Given the description of an element on the screen output the (x, y) to click on. 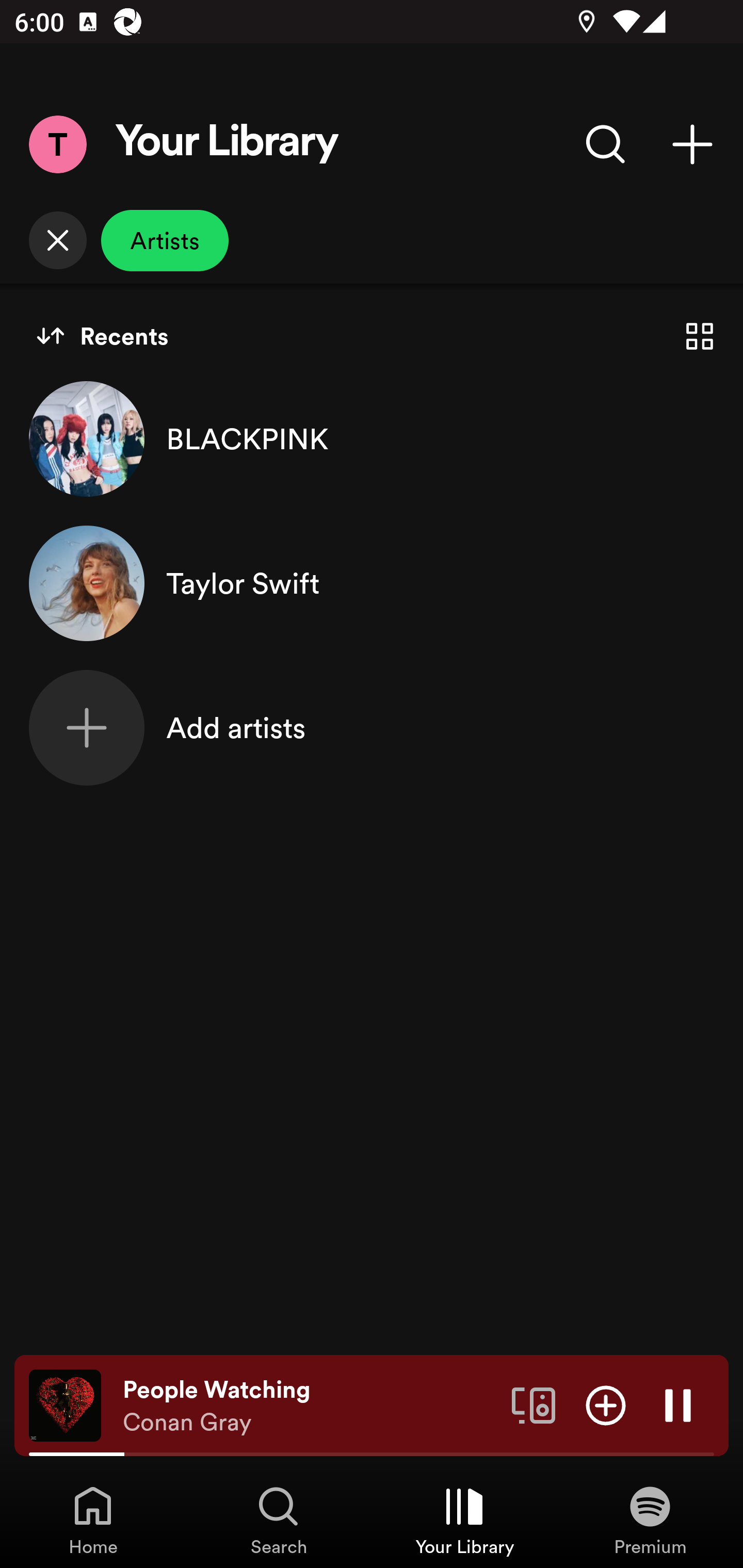
Menu (57, 144)
Search Your Library (605, 144)
Create playlist (692, 144)
Your Library Your Library Heading (226, 144)
Clear Filters (57, 240)
Artists, show only artists. (164, 240)
Recents (101, 336)
Show Grid view (699, 336)
BLACKPINK,  BLACKPINK (371, 439)
Taylor Swift,  Taylor Swift (371, 583)
Add artists,  Add artists (371, 727)
People Watching Conan Gray (309, 1405)
The cover art of the currently playing track (64, 1404)
Connect to a device. Opens the devices menu (533, 1404)
Add item (605, 1404)
Pause (677, 1404)
Home, Tab 1 of 4 Home Home (92, 1519)
Search, Tab 2 of 4 Search Search (278, 1519)
Your Library, Tab 3 of 4 Your Library Your Library (464, 1519)
Premium, Tab 4 of 4 Premium Premium (650, 1519)
